Given the description of an element on the screen output the (x, y) to click on. 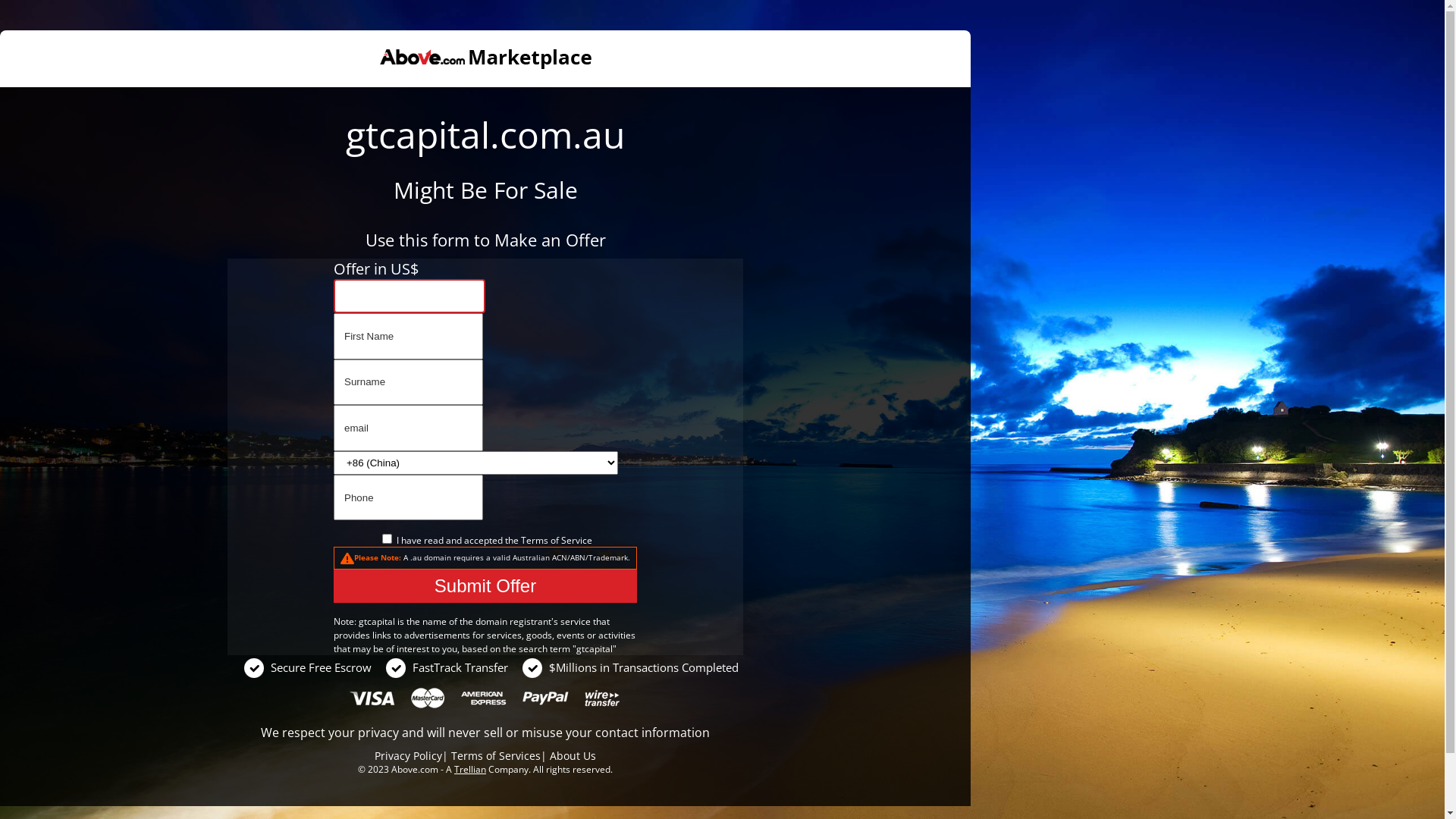
Terms of Services Element type: text (495, 755)
Privacy Policy Element type: text (408, 755)
About Us Element type: text (572, 755)
Terms Element type: text (533, 539)
Trellian Element type: text (470, 768)
Submit Offer Element type: text (485, 585)
